Given the description of an element on the screen output the (x, y) to click on. 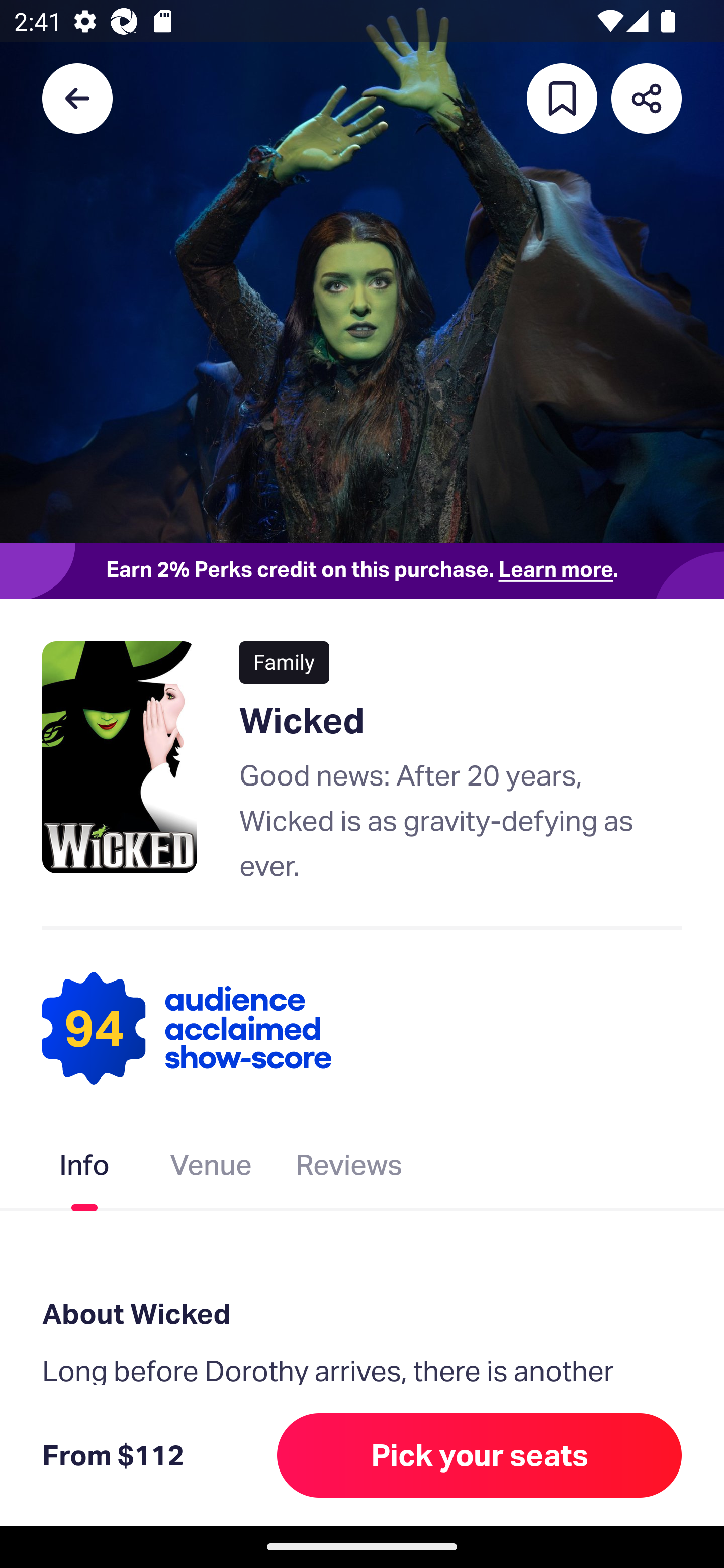
Earn 2% Perks credit on this purchase. Learn more. (362, 570)
Venue (210, 1168)
Reviews (348, 1168)
About Wicked (361, 1313)
Pick your seats (479, 1454)
